Given the description of an element on the screen output the (x, y) to click on. 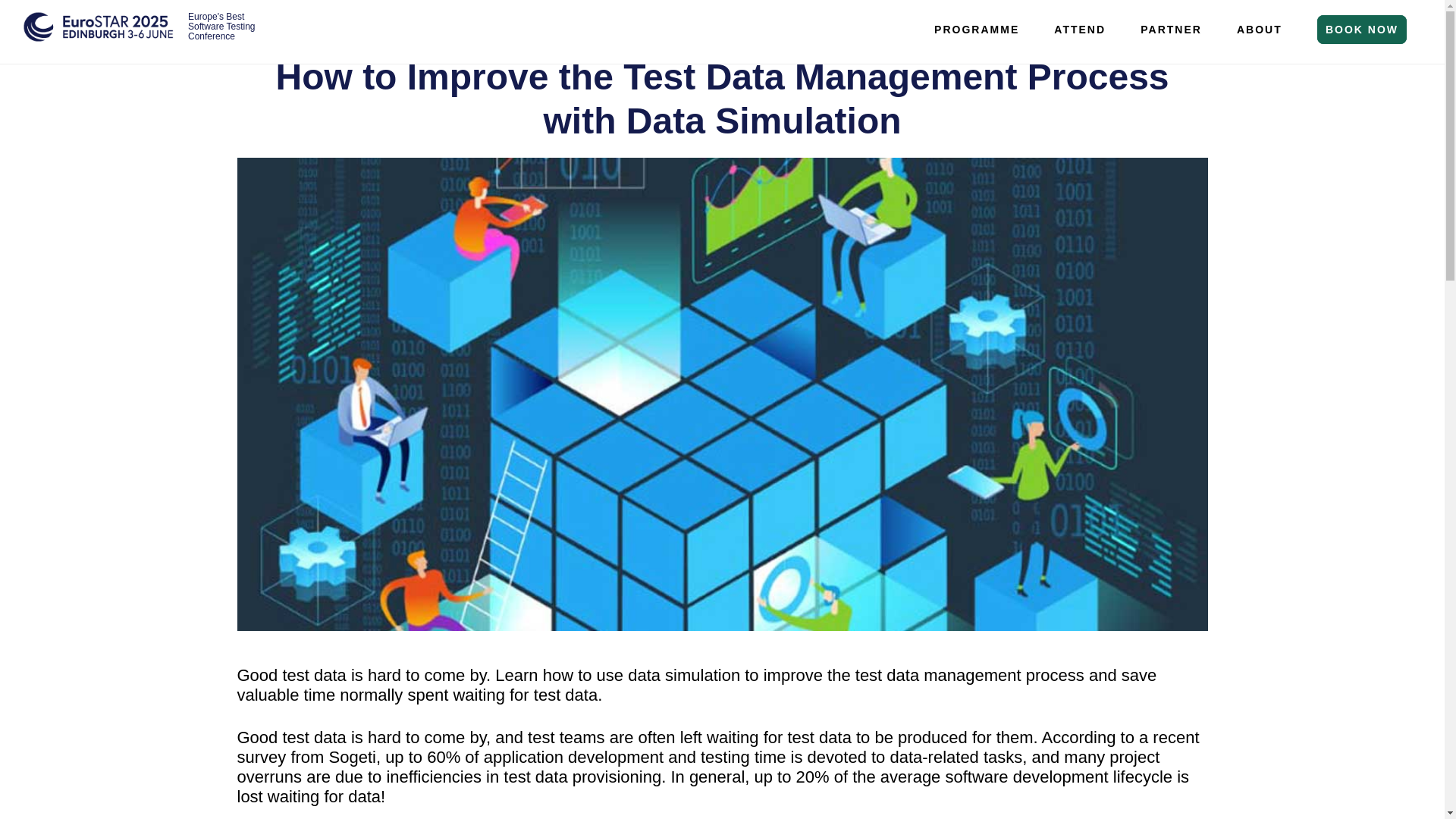
ATTEND (1080, 29)
PARTNER (1171, 29)
BOOK NOW (1361, 29)
PROGRAMME (975, 29)
ABOUT (1259, 29)
EUROSTAR CONFERENCE (98, 35)
